Given the description of an element on the screen output the (x, y) to click on. 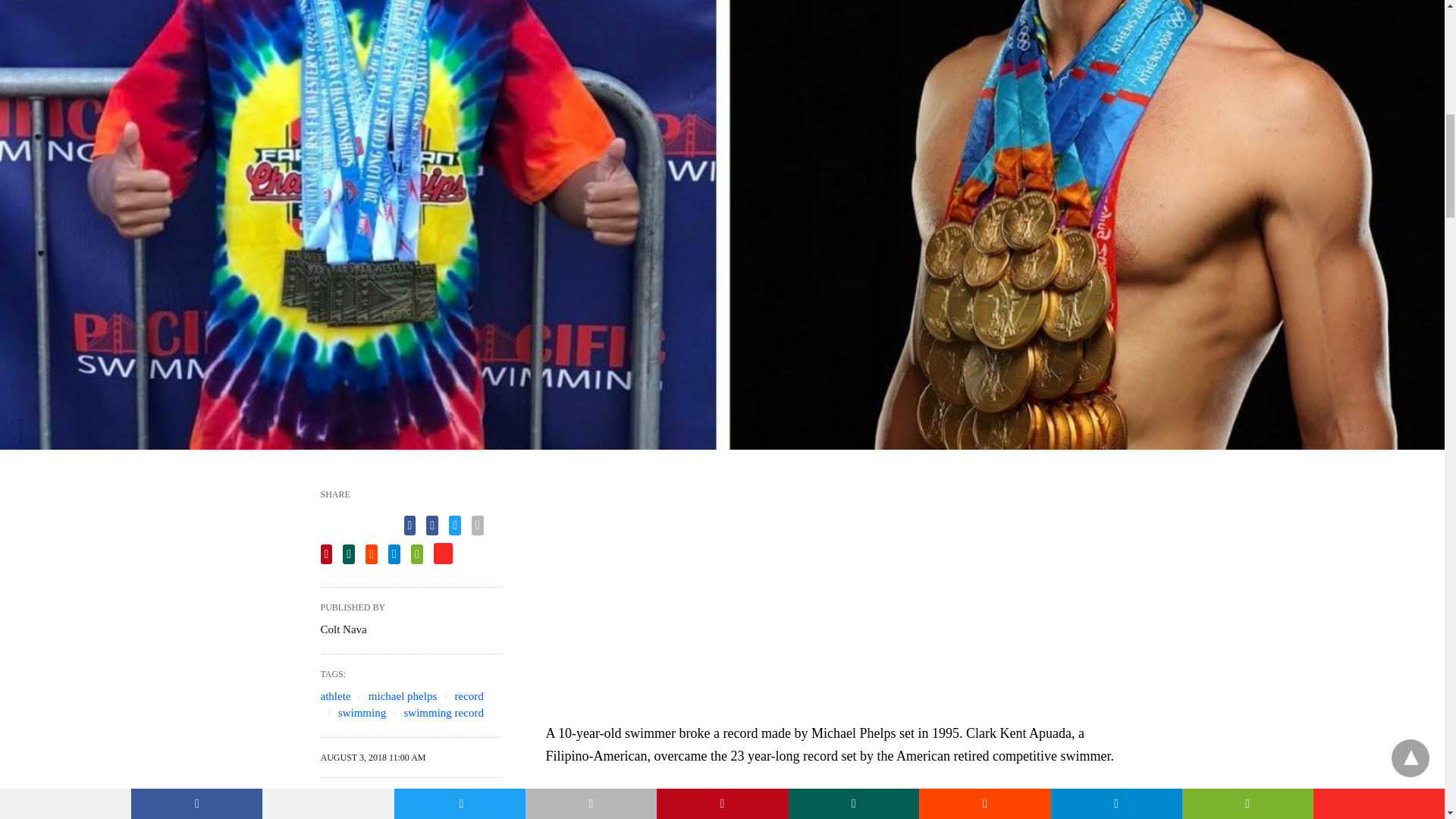
flipboard share (442, 553)
michael phelps (402, 695)
michael phelps (402, 695)
swimming record (443, 712)
record (468, 695)
swimming (361, 712)
swimming record (443, 712)
swimming (361, 712)
record (468, 695)
athlete (335, 695)
